Given the description of an element on the screen output the (x, y) to click on. 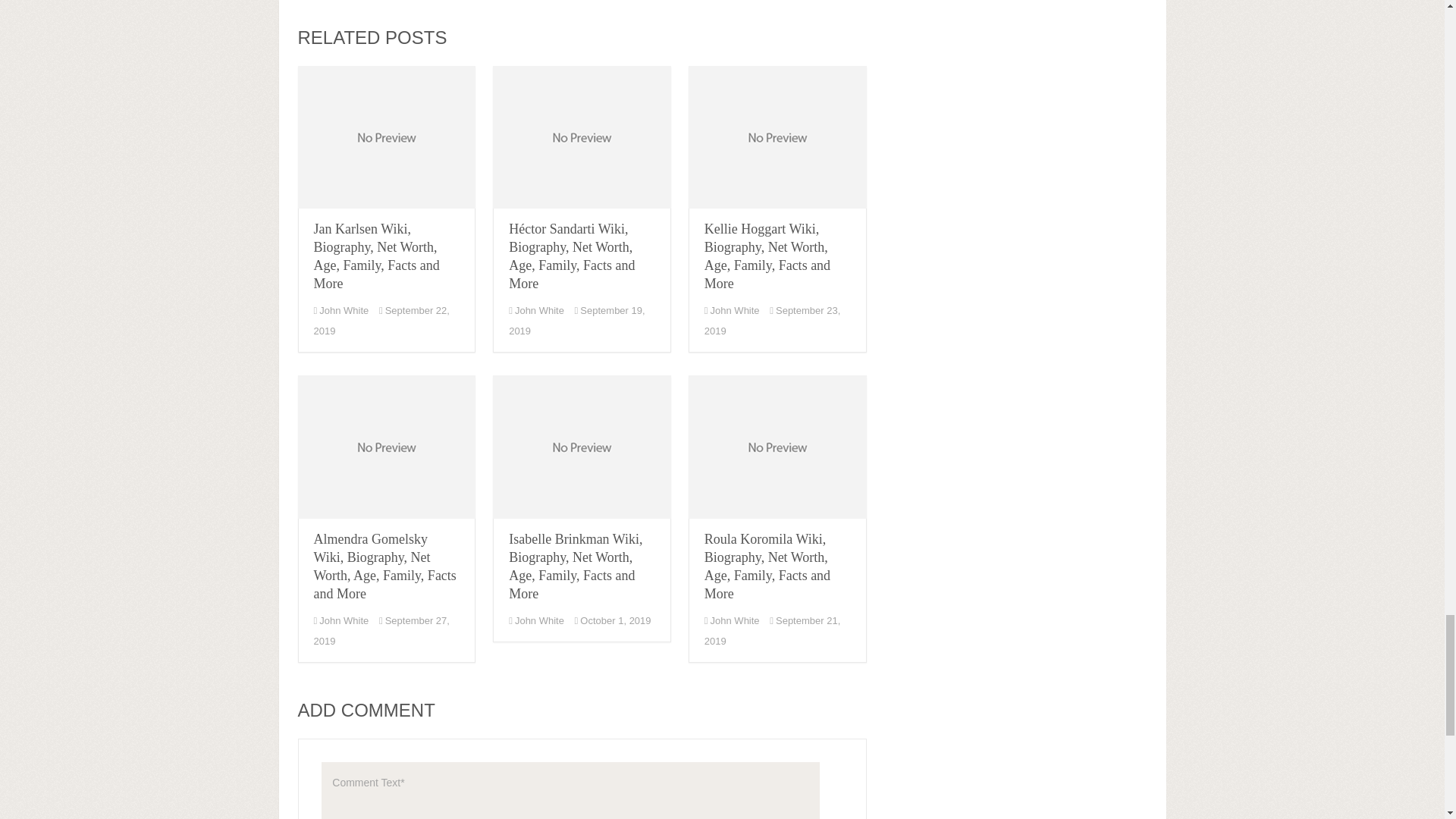
Posts by John White (343, 310)
